Given the description of an element on the screen output the (x, y) to click on. 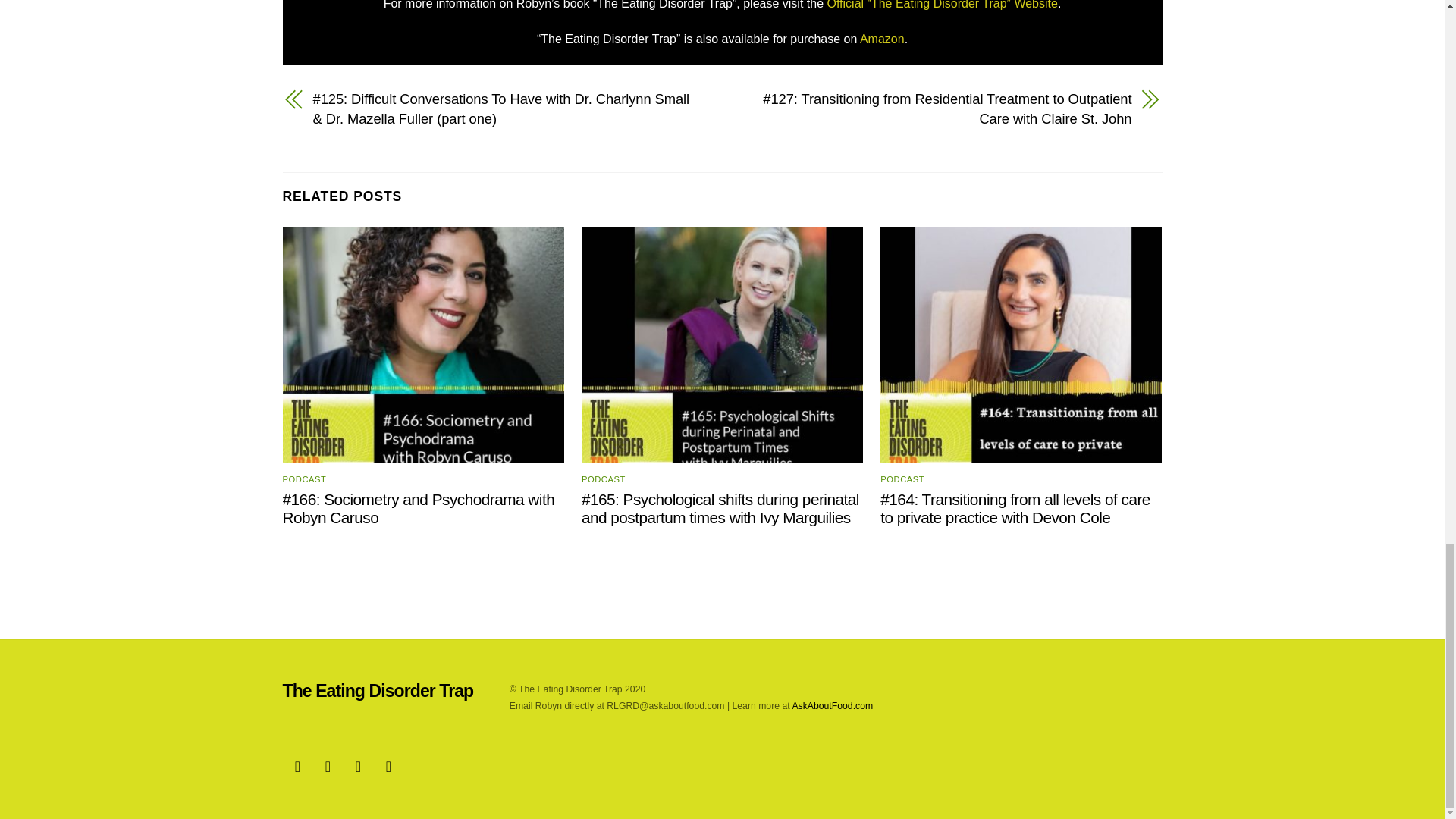
PODCAST (304, 479)
PODCAST (603, 479)
PODCAST (902, 479)
Amazon (882, 38)
The Eating Disorder Trap (377, 690)
